Given the description of an element on the screen output the (x, y) to click on. 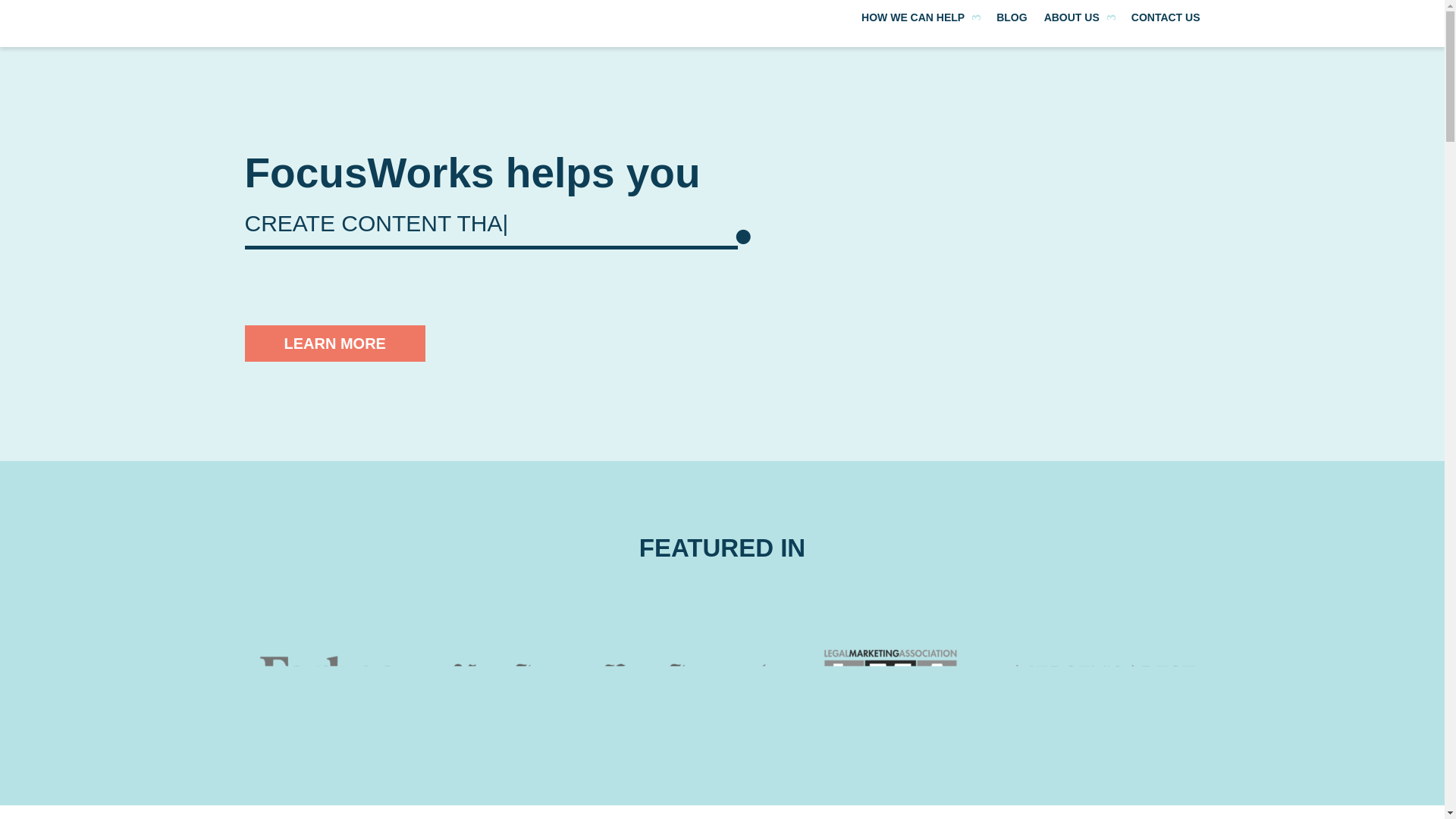
LEARN MORE (334, 342)
ABOUT US (1079, 20)
BLOG (1010, 20)
HOW WE CAN HELP (920, 20)
CONTACT US (1165, 20)
